Given the description of an element on the screen output the (x, y) to click on. 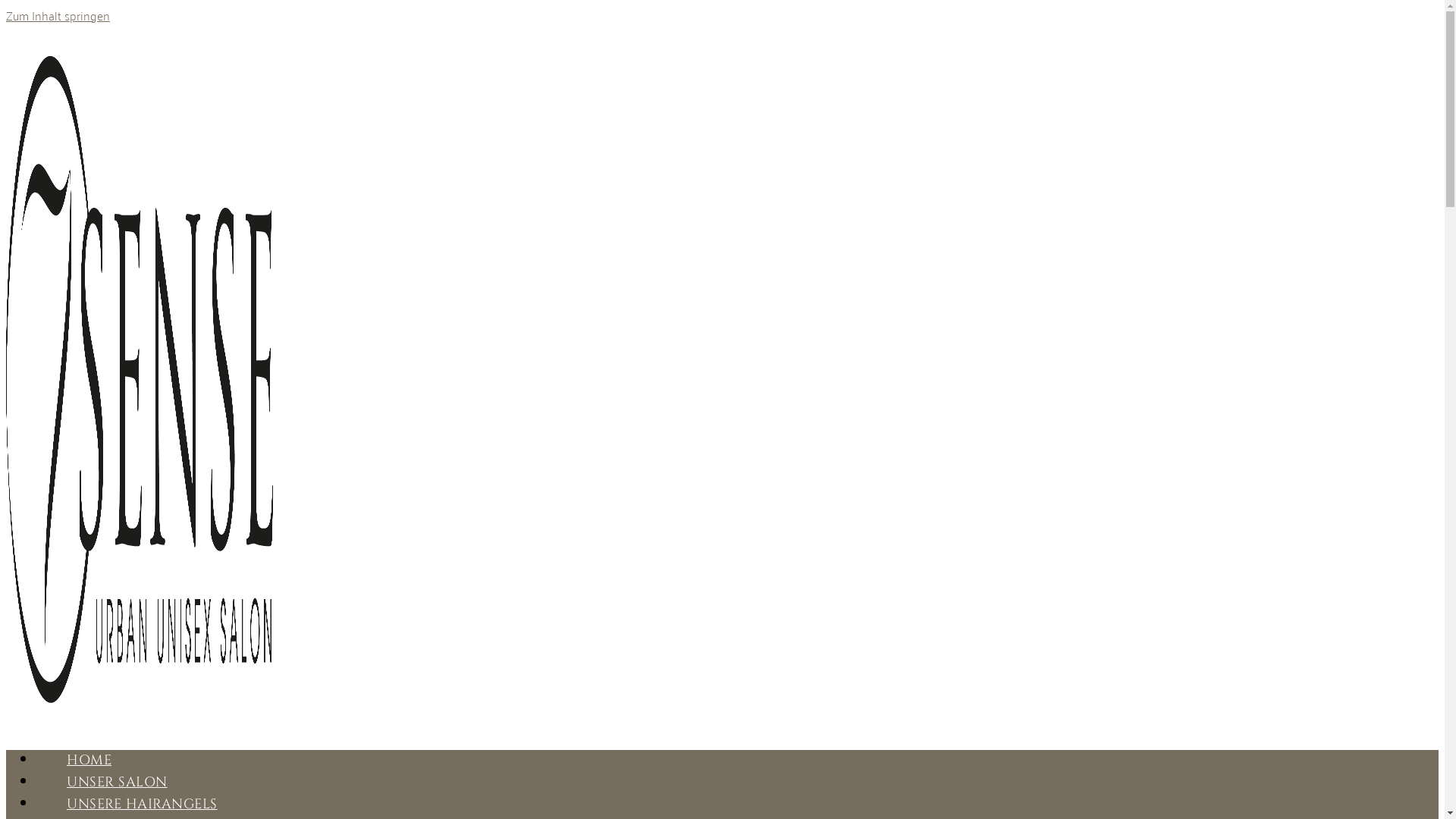
UNSER SALON Element type: text (116, 781)
Zum Inhalt springen Element type: text (57, 14)
HOME Element type: text (88, 759)
UNSERE HAIRANGELS Element type: text (141, 803)
